Given the description of an element on the screen output the (x, y) to click on. 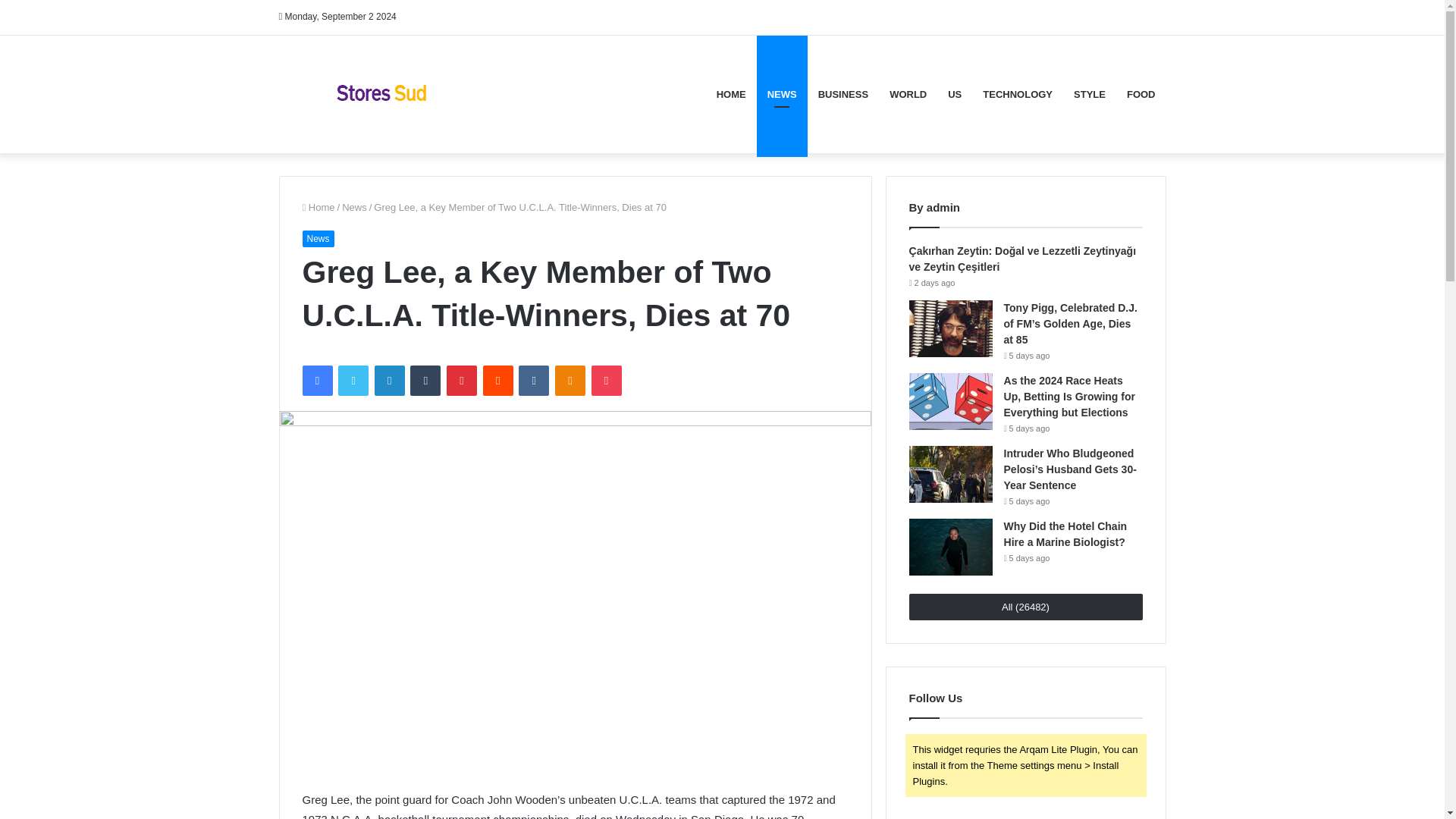
Twitter (352, 380)
Reddit (498, 380)
News (354, 206)
Facebook (316, 380)
Odnoklassniki (569, 380)
LinkedIn (389, 380)
Home (317, 206)
LinkedIn (389, 380)
Pocket (606, 380)
Pocket (606, 380)
